Given the description of an element on the screen output the (x, y) to click on. 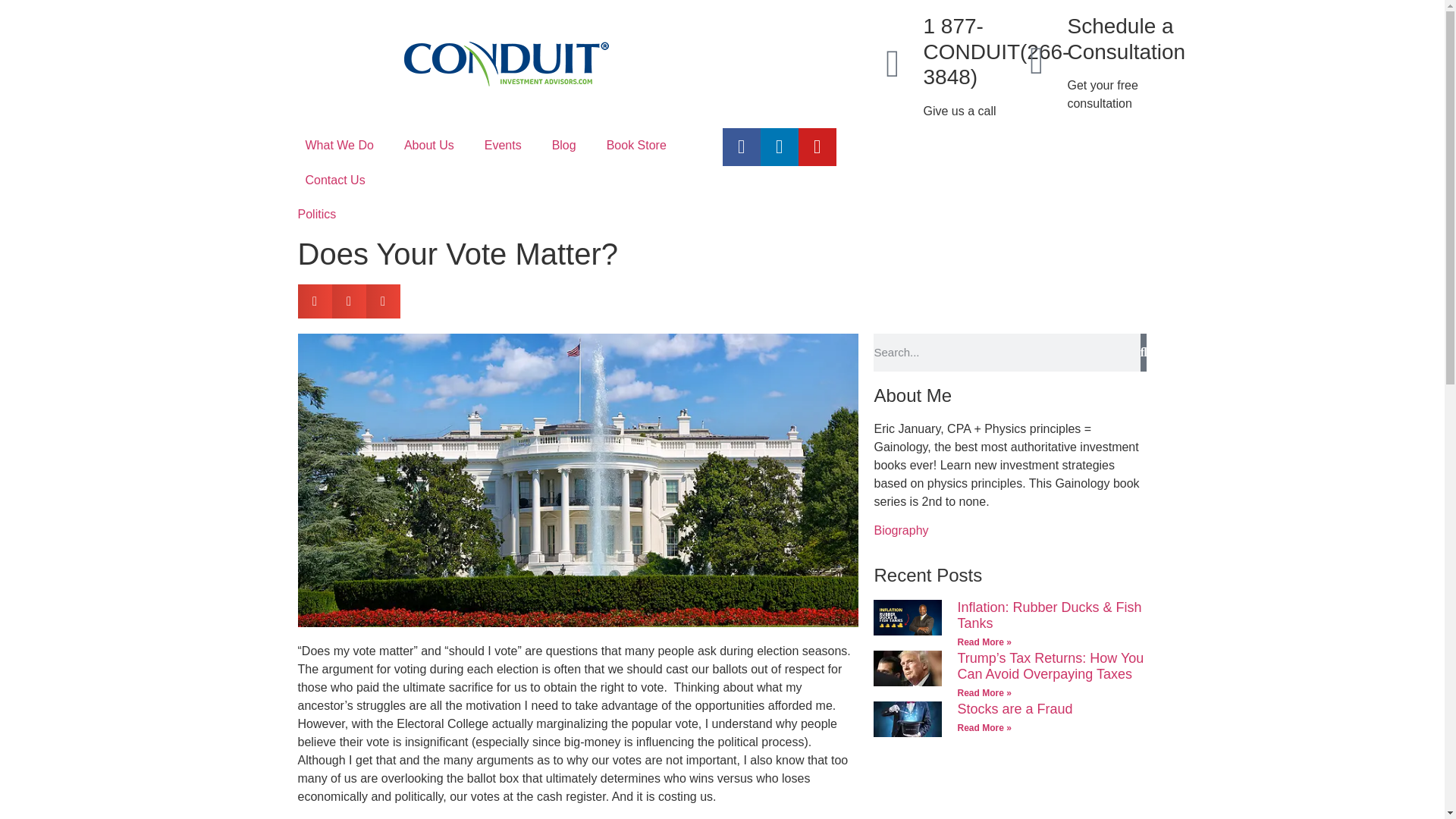
Blog (564, 144)
Biography (900, 530)
Schedule a Consultation (1126, 38)
Book Store (636, 144)
Politics (316, 214)
What We Do (338, 144)
Contact Us (334, 180)
About Us (428, 144)
Events (502, 144)
Stocks are a Fraud (1013, 708)
